Given the description of an element on the screen output the (x, y) to click on. 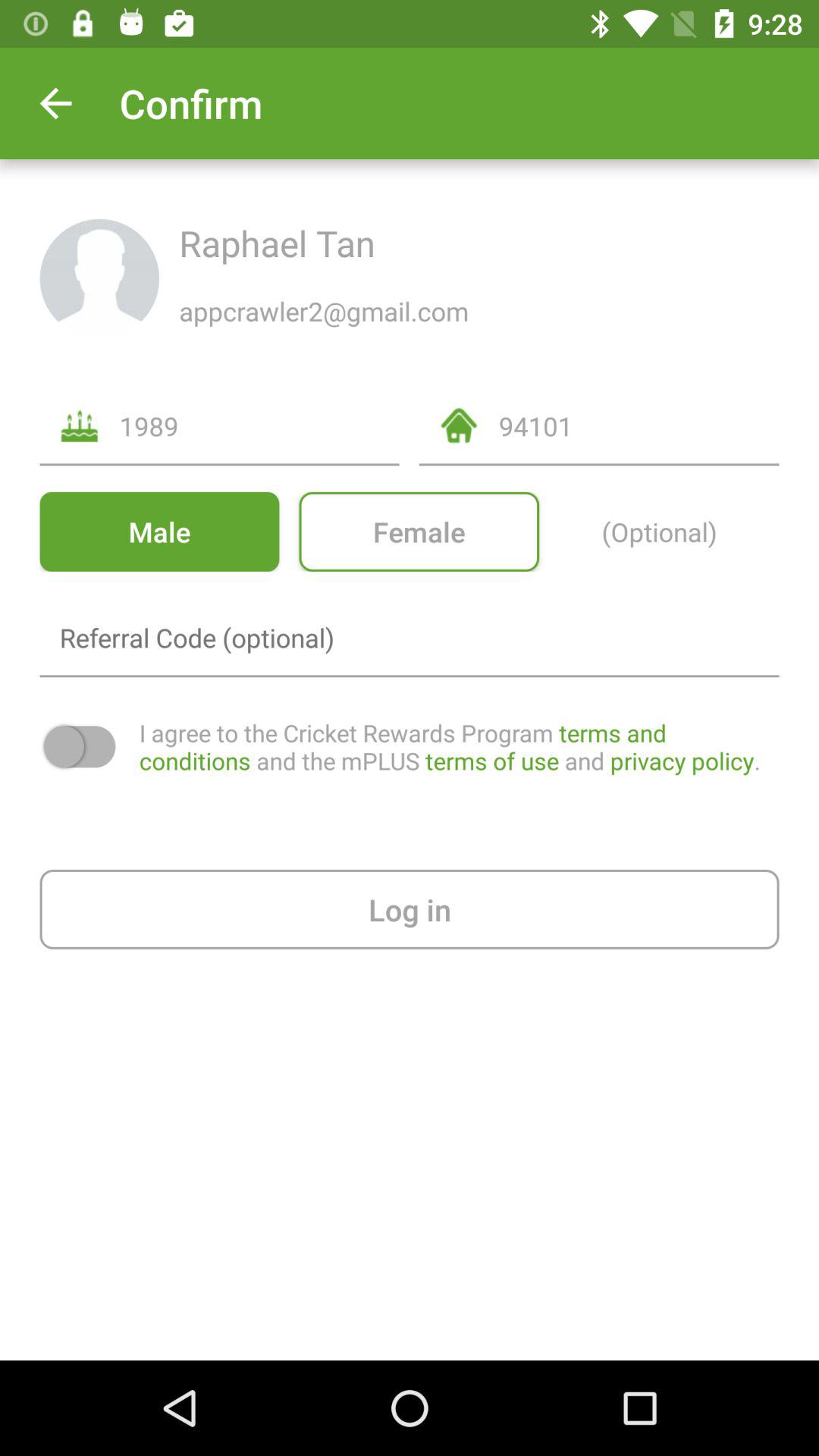
open item above male icon (259, 425)
